Given the description of an element on the screen output the (x, y) to click on. 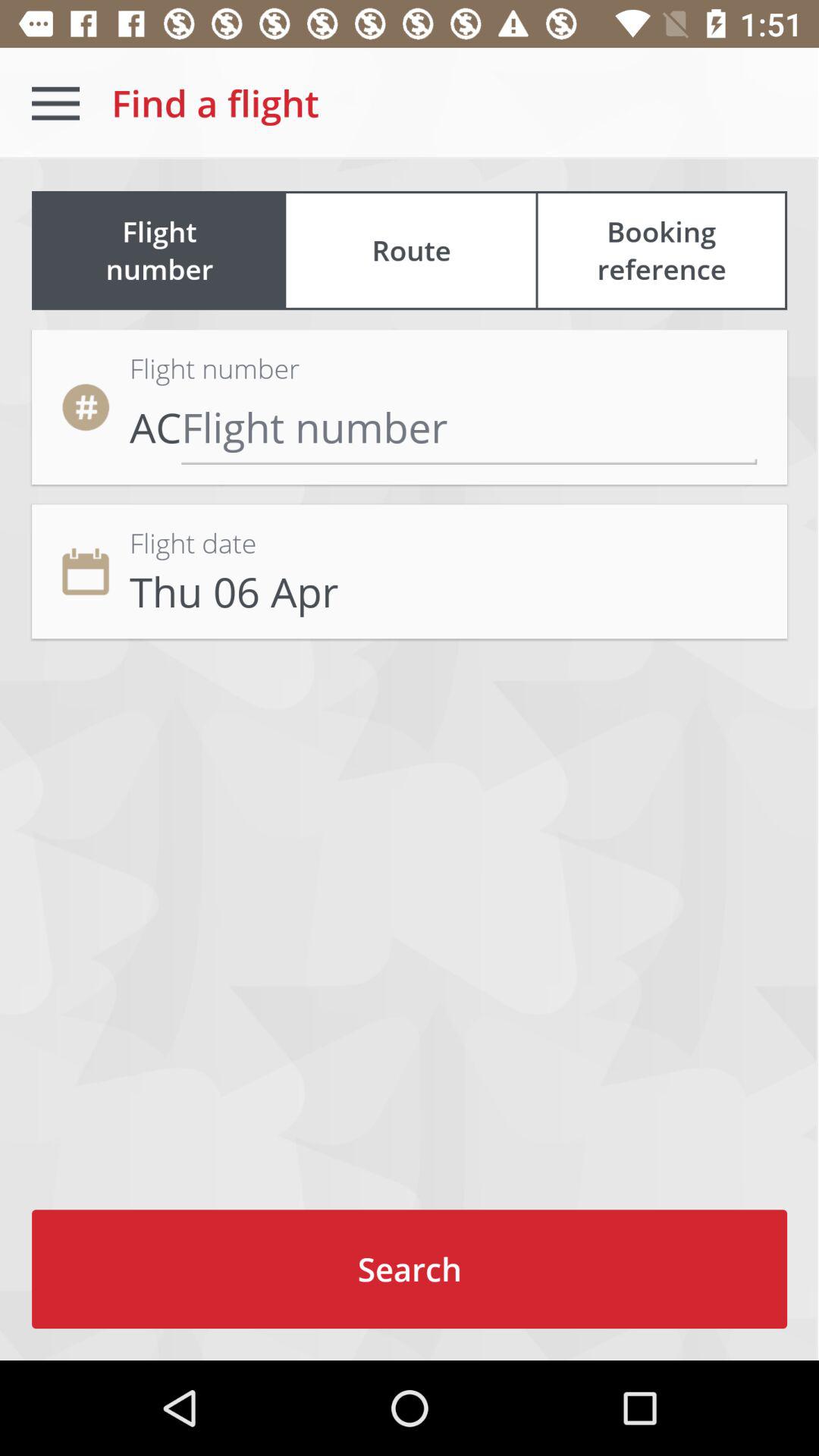
flip until search item (409, 1268)
